Given the description of an element on the screen output the (x, y) to click on. 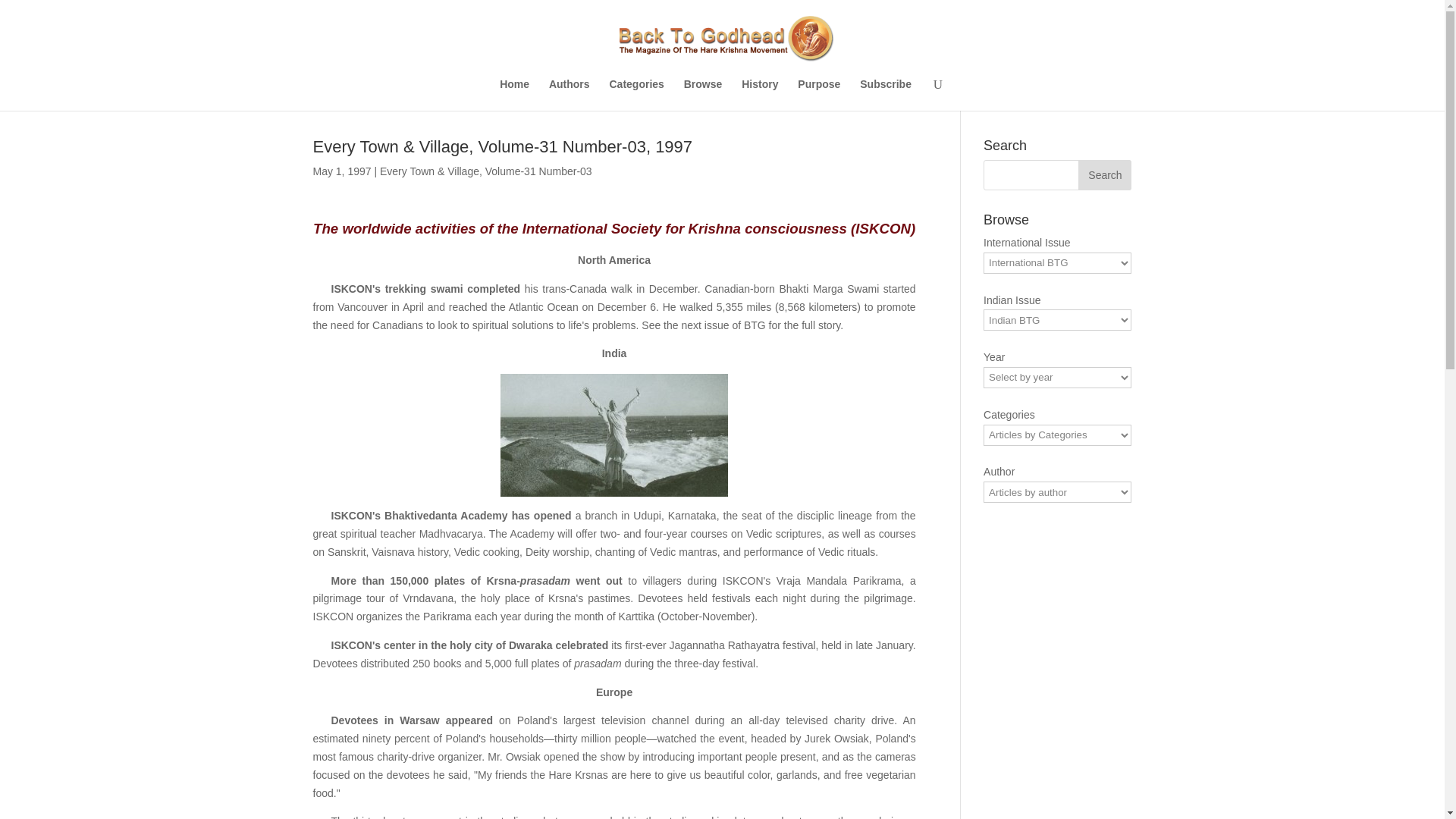
Purpose (818, 94)
Browse (703, 94)
Subscribe (885, 94)
History (759, 94)
Categories (636, 94)
Search (1104, 174)
Browse (703, 94)
Volume-31 Number-03 (538, 171)
Home (514, 94)
Authors (568, 94)
